Given the description of an element on the screen output the (x, y) to click on. 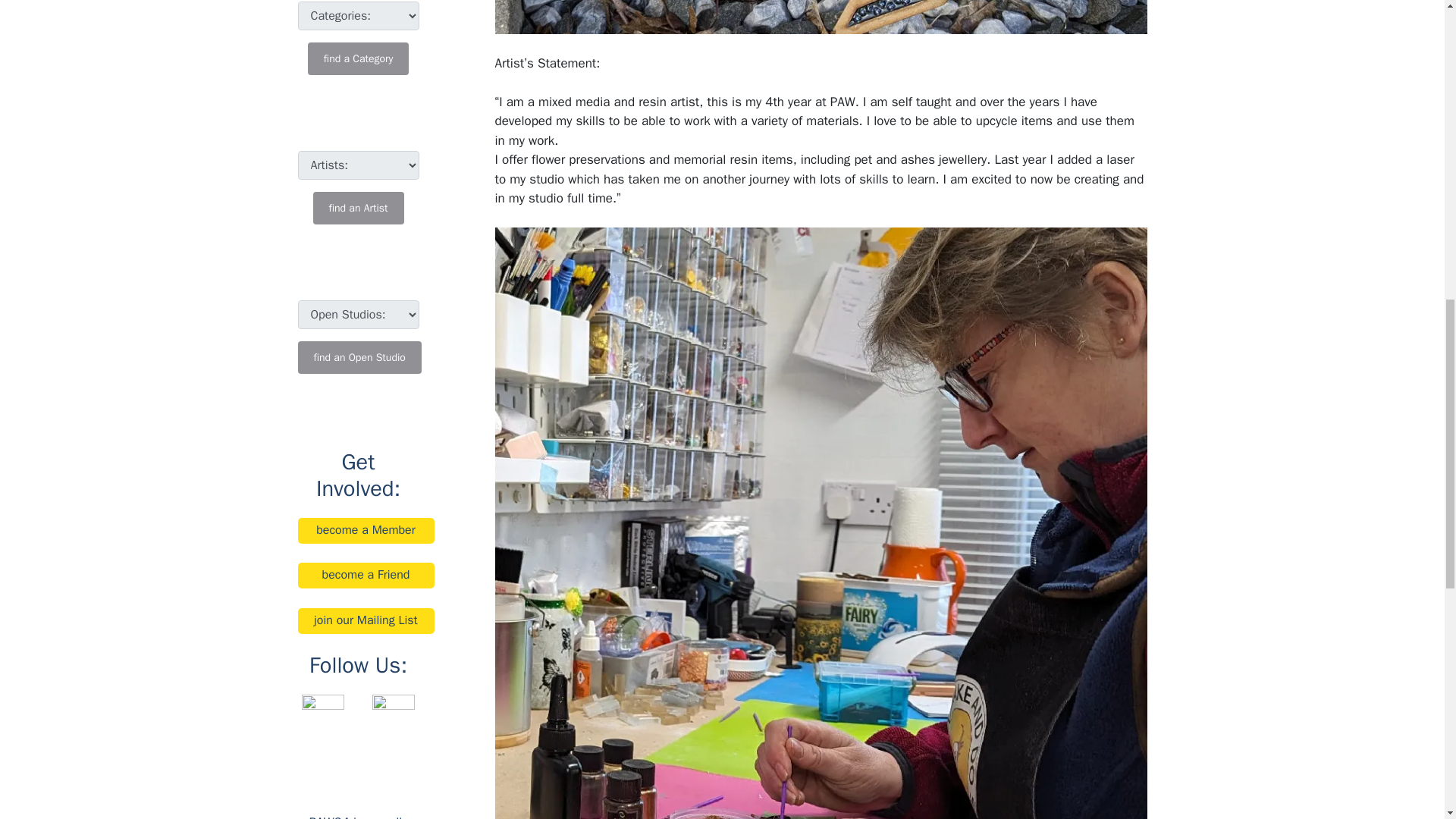
join our Mailing List (365, 620)
find an Artist (358, 207)
Scroll back to top (1406, 720)
find a Category (358, 58)
become a Member (365, 530)
become a Friend (365, 575)
find an Open Studio (358, 357)
